Given the description of an element on the screen output the (x, y) to click on. 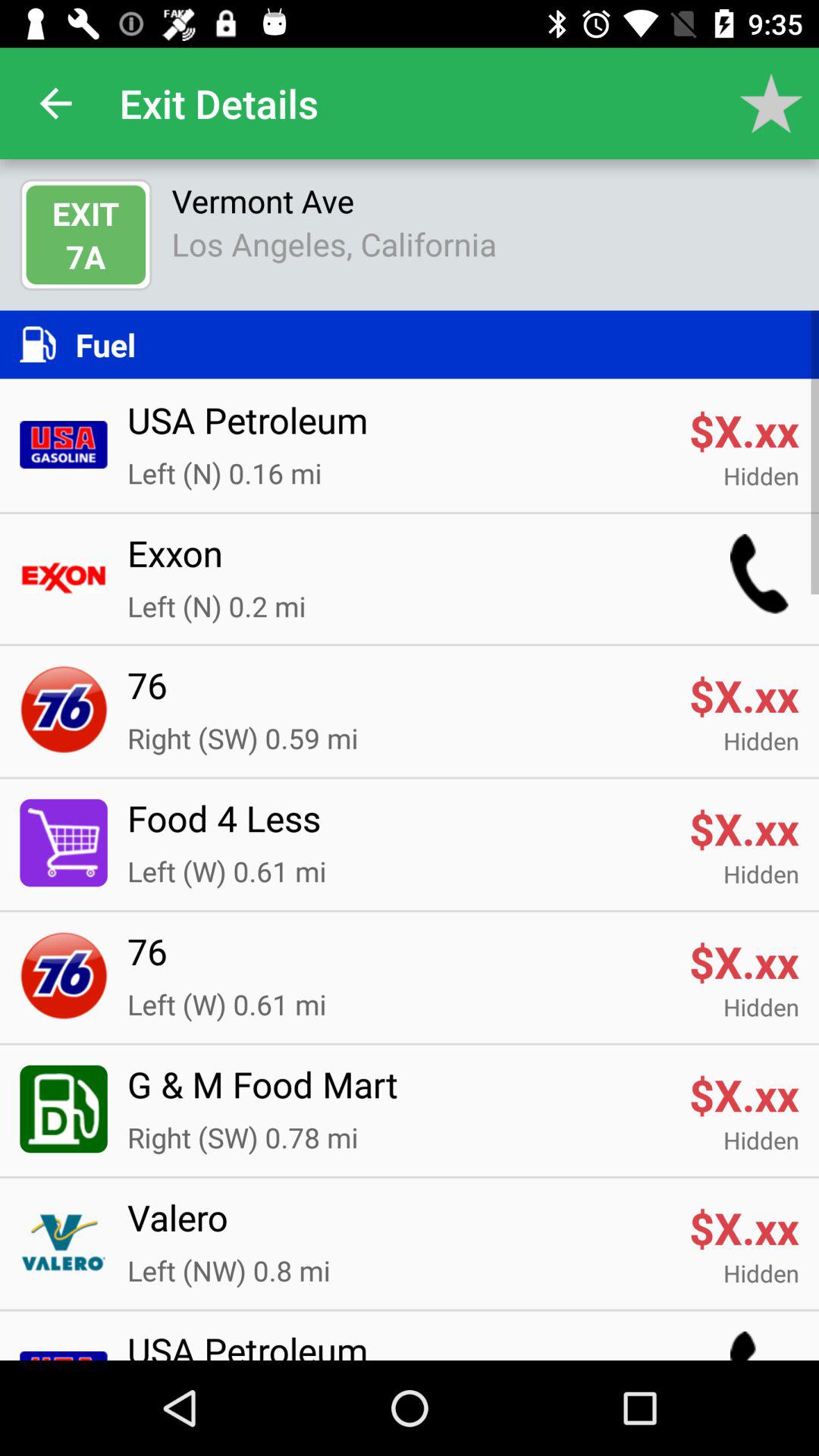
choose item below hidden icon (398, 827)
